Given the description of an element on the screen output the (x, y) to click on. 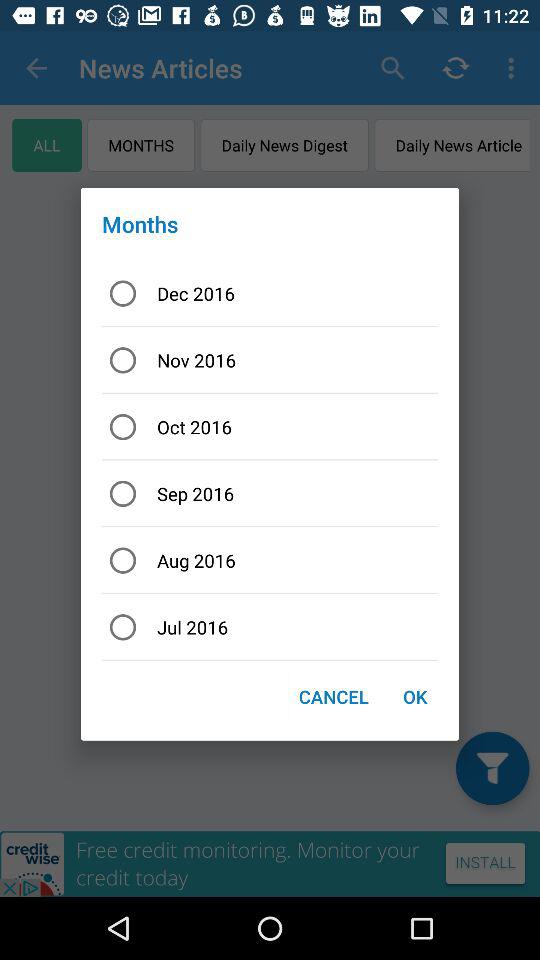
swipe until the jul 2016 item (269, 626)
